Given the description of an element on the screen output the (x, y) to click on. 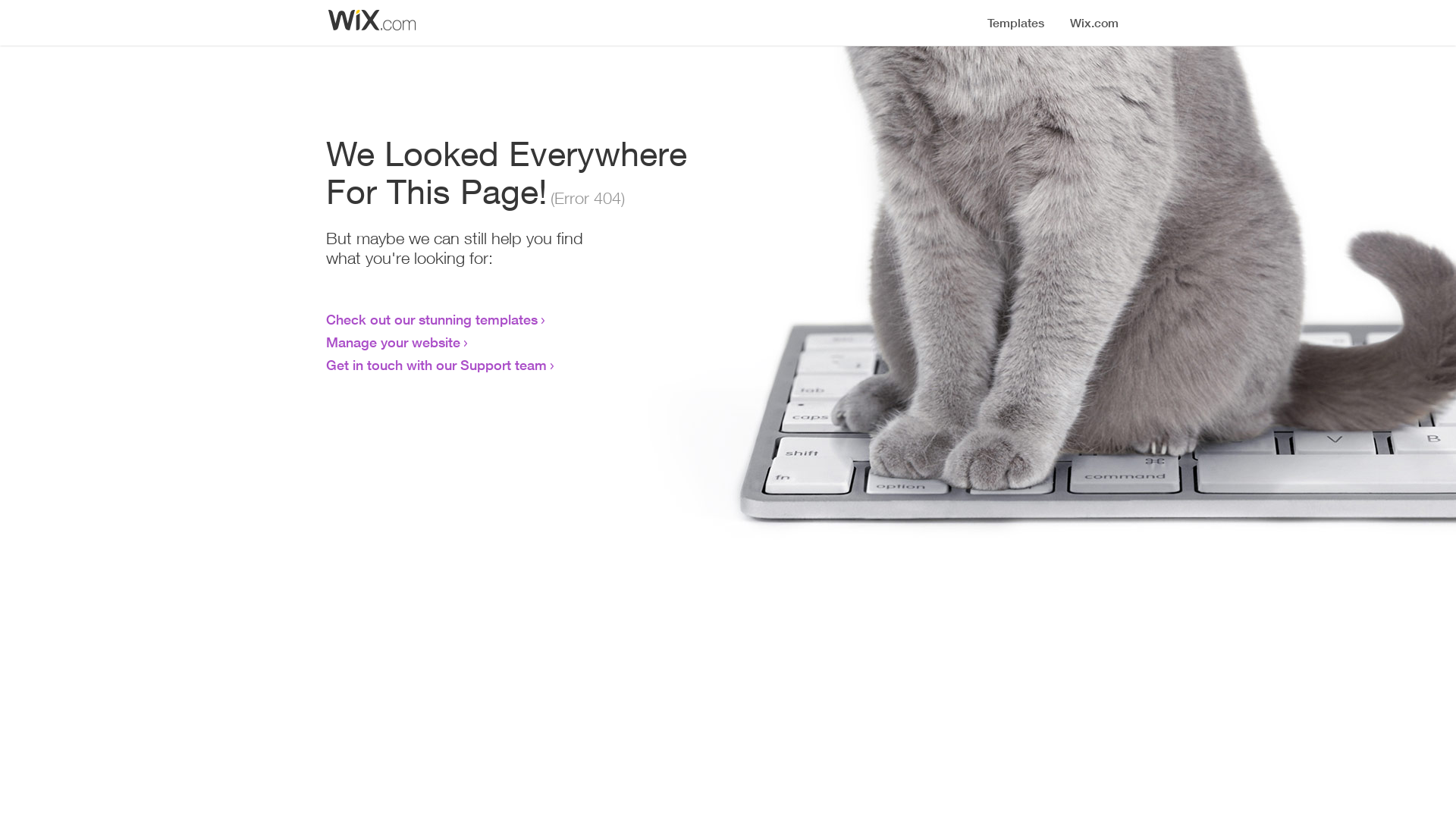
Check out our stunning templates Element type: text (431, 318)
Manage your website Element type: text (393, 341)
Get in touch with our Support team Element type: text (436, 364)
